Given the description of an element on the screen output the (x, y) to click on. 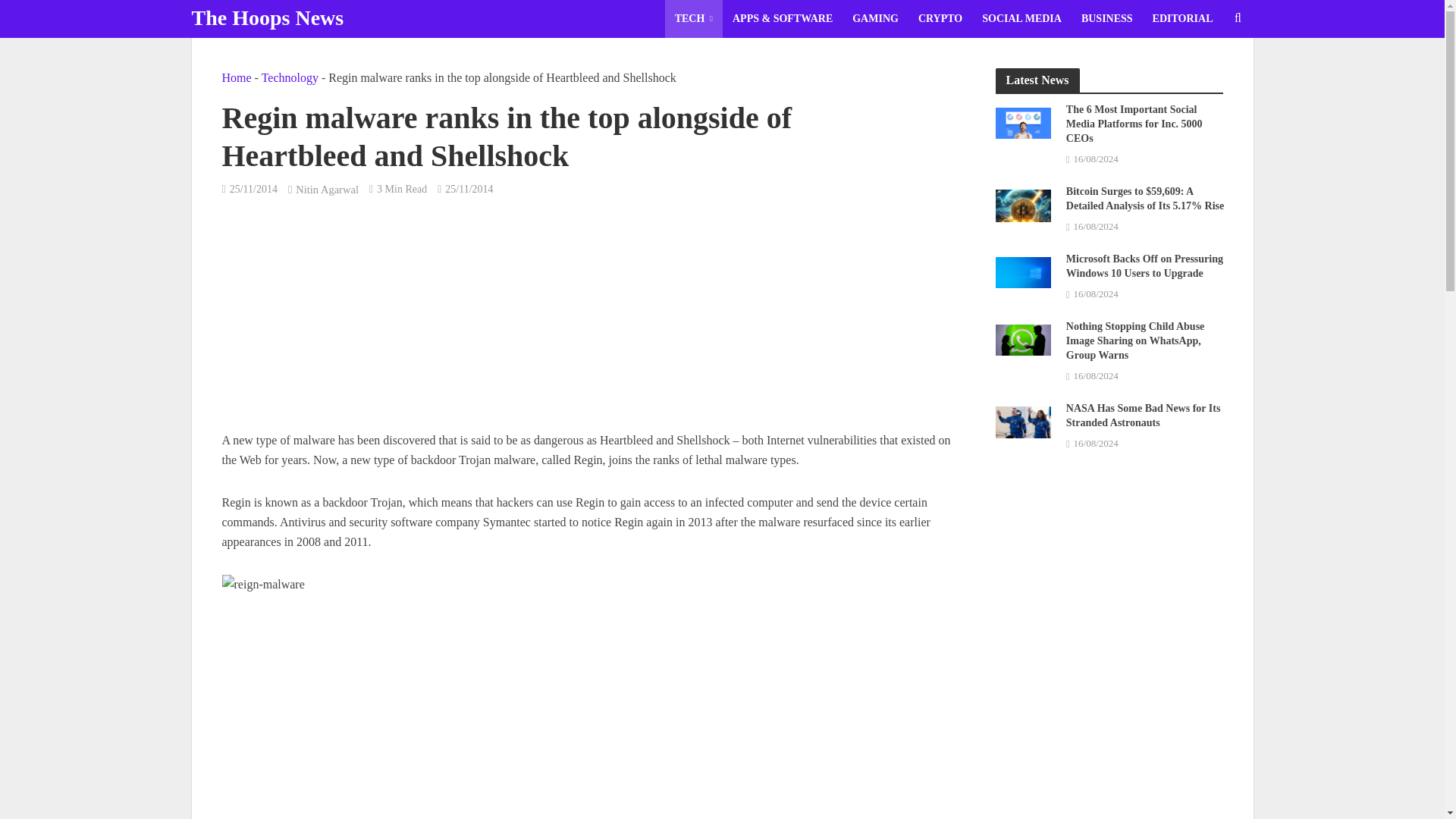
Technology (290, 77)
Nitin Agarwal (326, 191)
EDITORIAL (1182, 18)
GAMING (875, 18)
TECH (693, 18)
BUSINESS (1106, 18)
SOCIAL MEDIA (1021, 18)
